Given the description of an element on the screen output the (x, y) to click on. 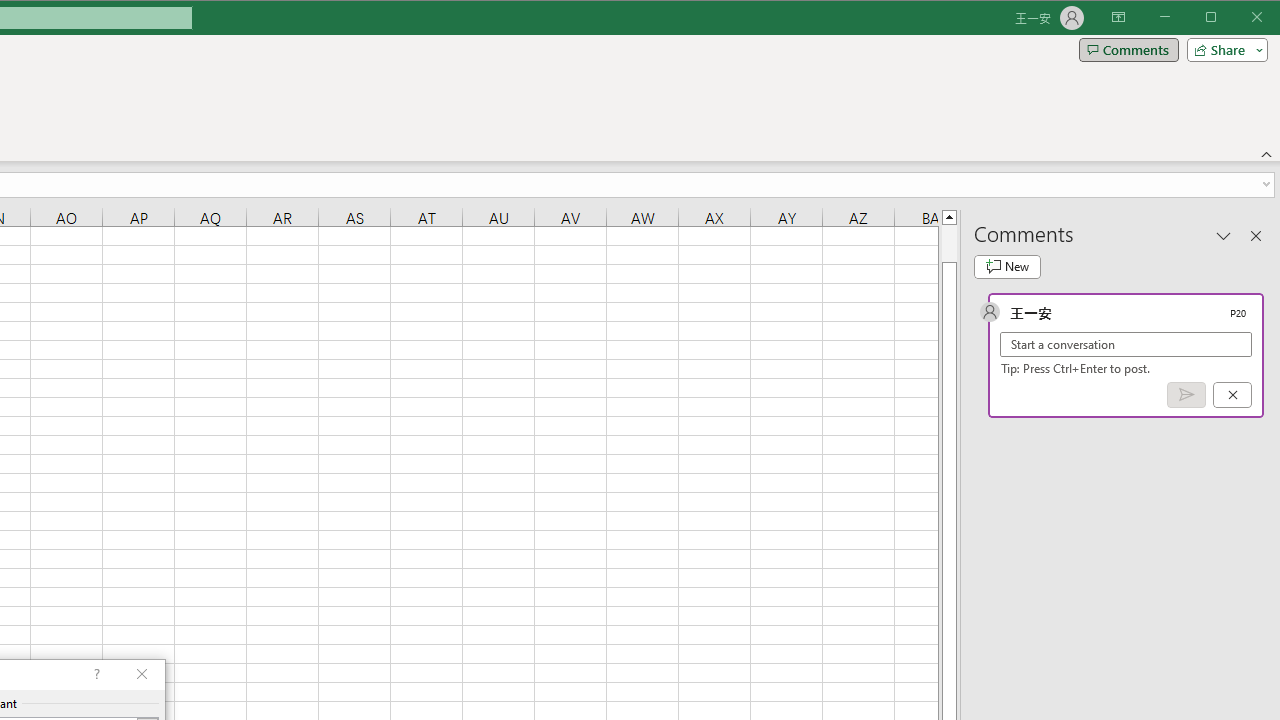
Page up (948, 243)
Start a conversation (1126, 344)
Cancel (1232, 395)
New comment (1007, 266)
Post comment (Ctrl + Enter) (1186, 395)
